Given the description of an element on the screen output the (x, y) to click on. 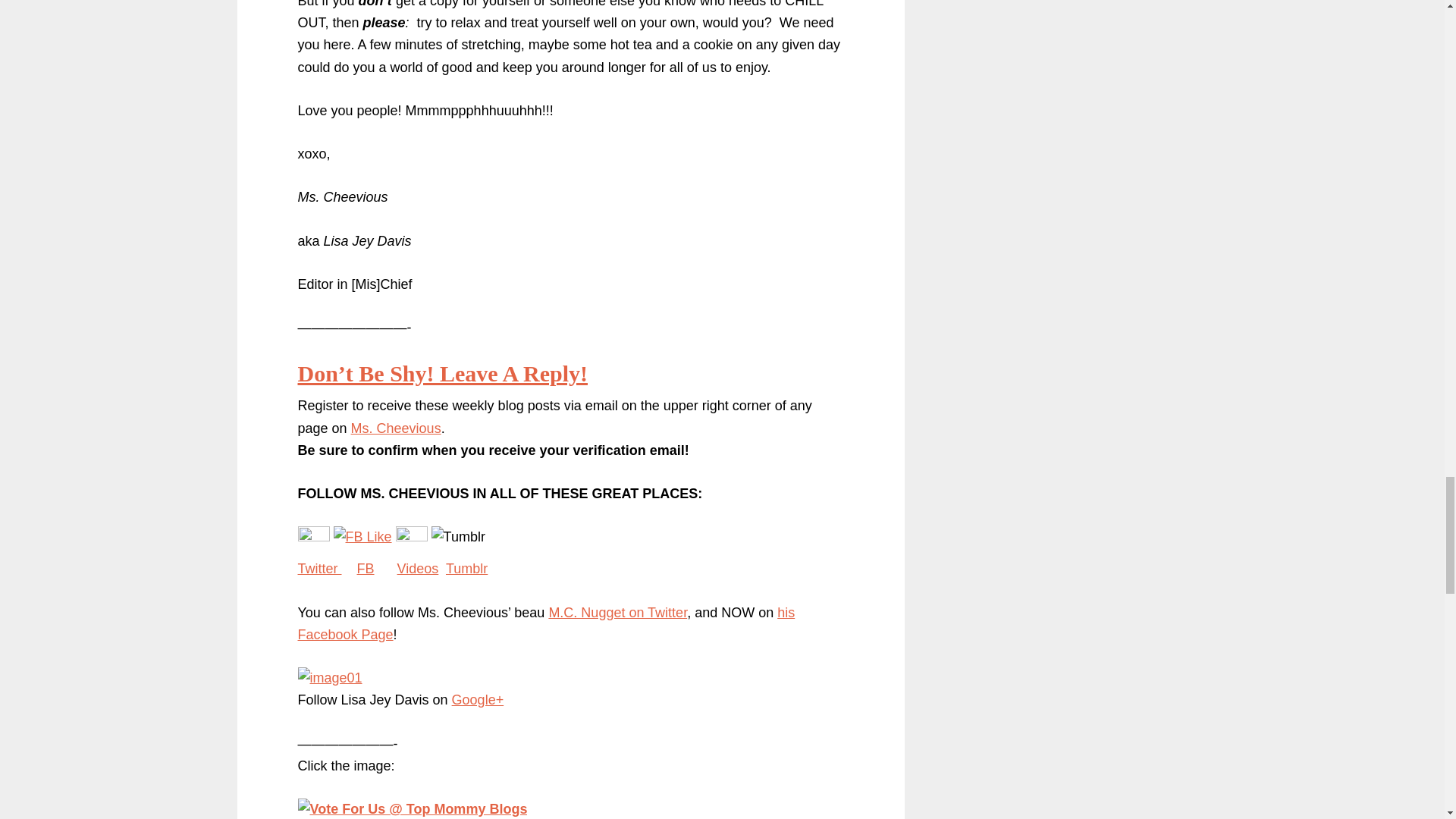
popular mommy bloggers (412, 808)
Ms. Cheevious on Youtube (412, 536)
TumblrFollow (457, 536)
fblike (362, 536)
Ms. Cheevious on Twitter (313, 536)
